Given the description of an element on the screen output the (x, y) to click on. 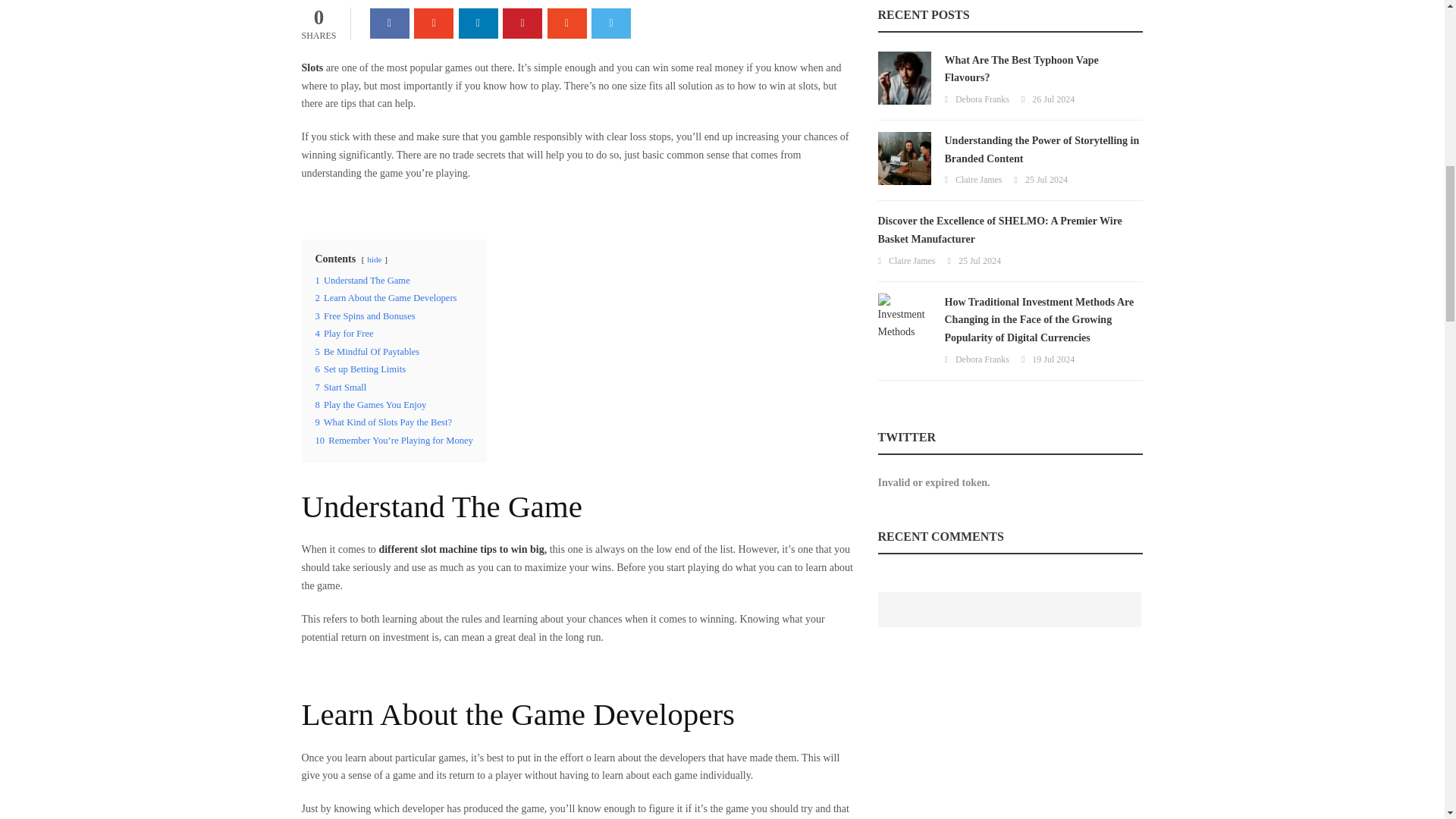
Posts by Claire James (912, 260)
Posts by Debora Franks (982, 99)
Posts by Claire James (979, 179)
Posts by Debora Franks (982, 358)
